Given the description of an element on the screen output the (x, y) to click on. 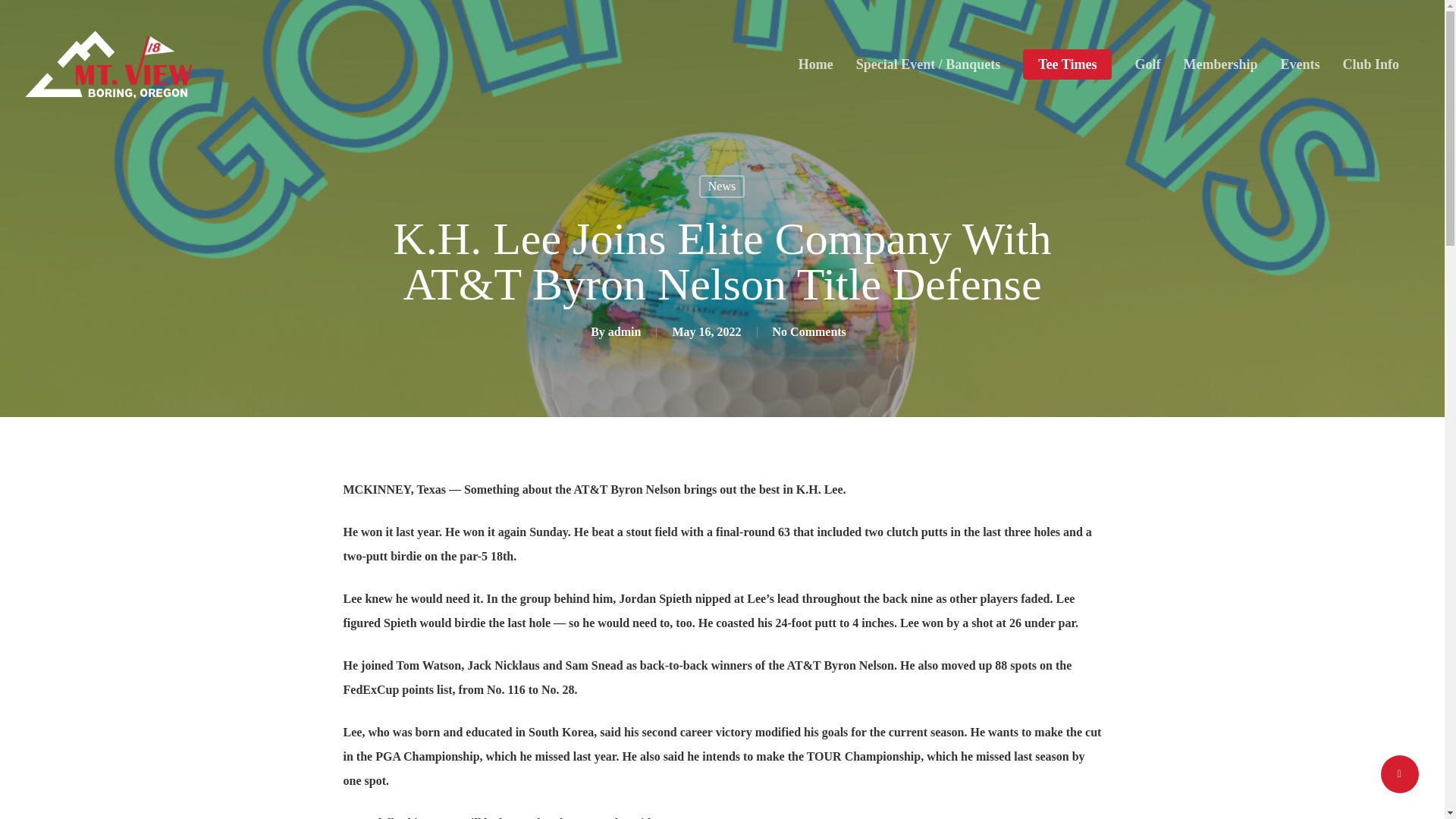
Tee Times (1067, 64)
Home (814, 64)
No Comments (809, 331)
Club Info (1370, 64)
Golf (1147, 64)
Posts by admin (625, 331)
News (721, 186)
Membership (1219, 64)
Events (1299, 64)
admin (625, 331)
